Given the description of an element on the screen output the (x, y) to click on. 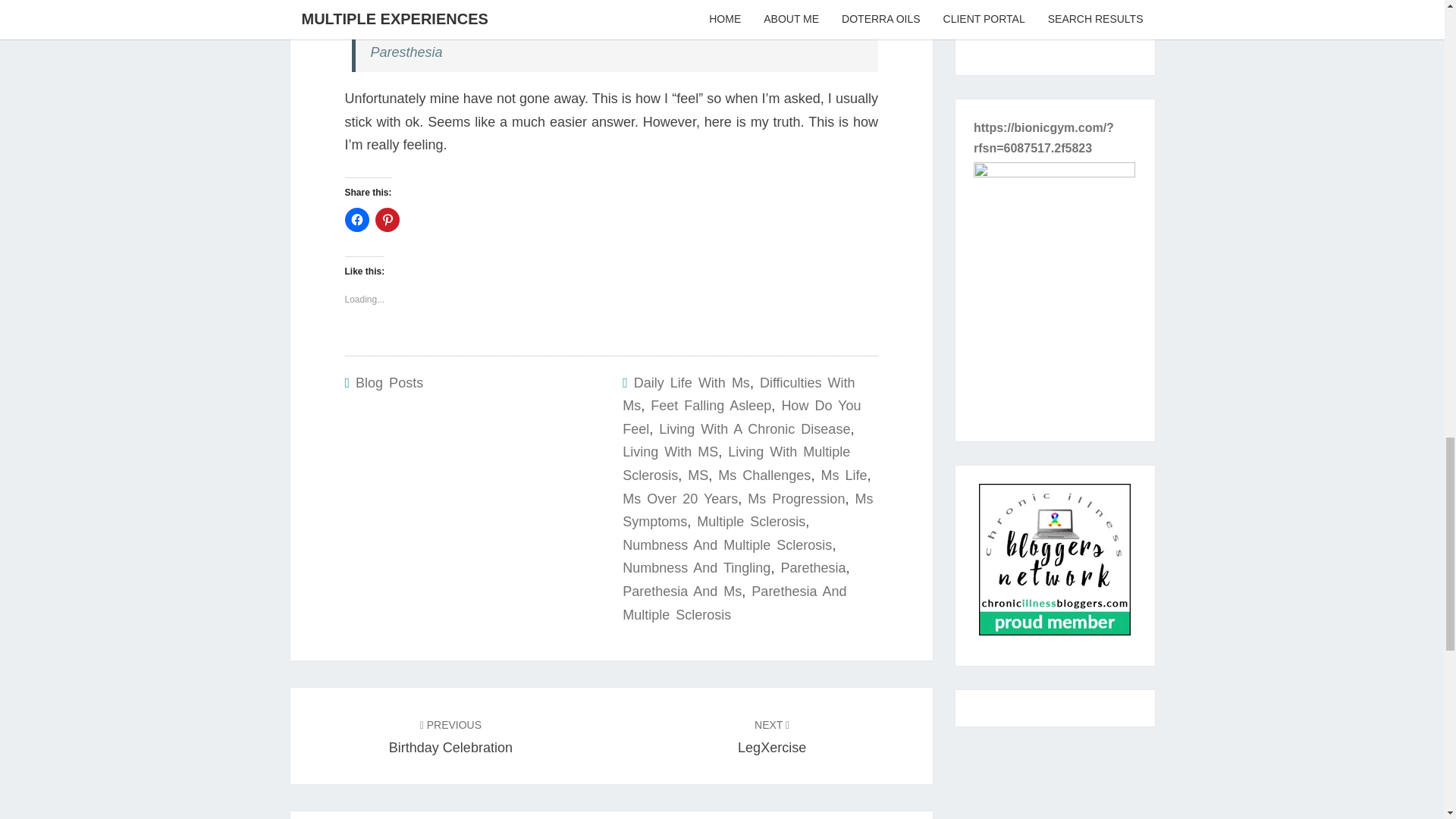
How Do You Feel (741, 417)
Multiple Sclerosis (751, 521)
Parethesia (812, 567)
Numbness And Tingling (696, 567)
Living With MS (670, 451)
Parethesia And Ms (682, 590)
Chronic Illness Bloggers (1054, 563)
Ms Challenges (763, 475)
Ms Symptoms (747, 510)
Ms Life (843, 475)
